Given the description of an element on the screen output the (x, y) to click on. 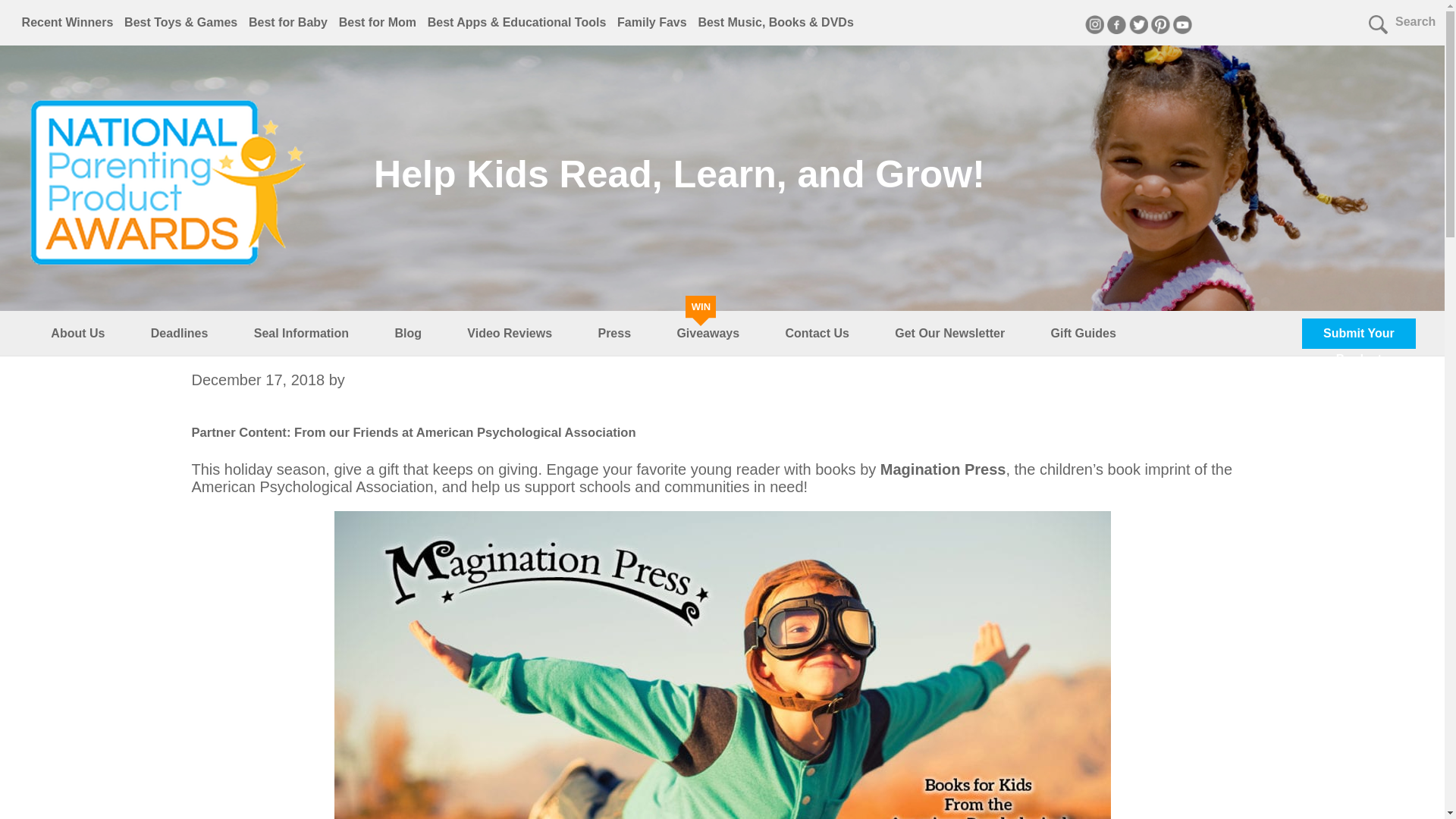
Recent Winners (67, 21)
Best for Baby (287, 21)
Family Favs (652, 21)
Best for Mom (377, 21)
